Given the description of an element on the screen output the (x, y) to click on. 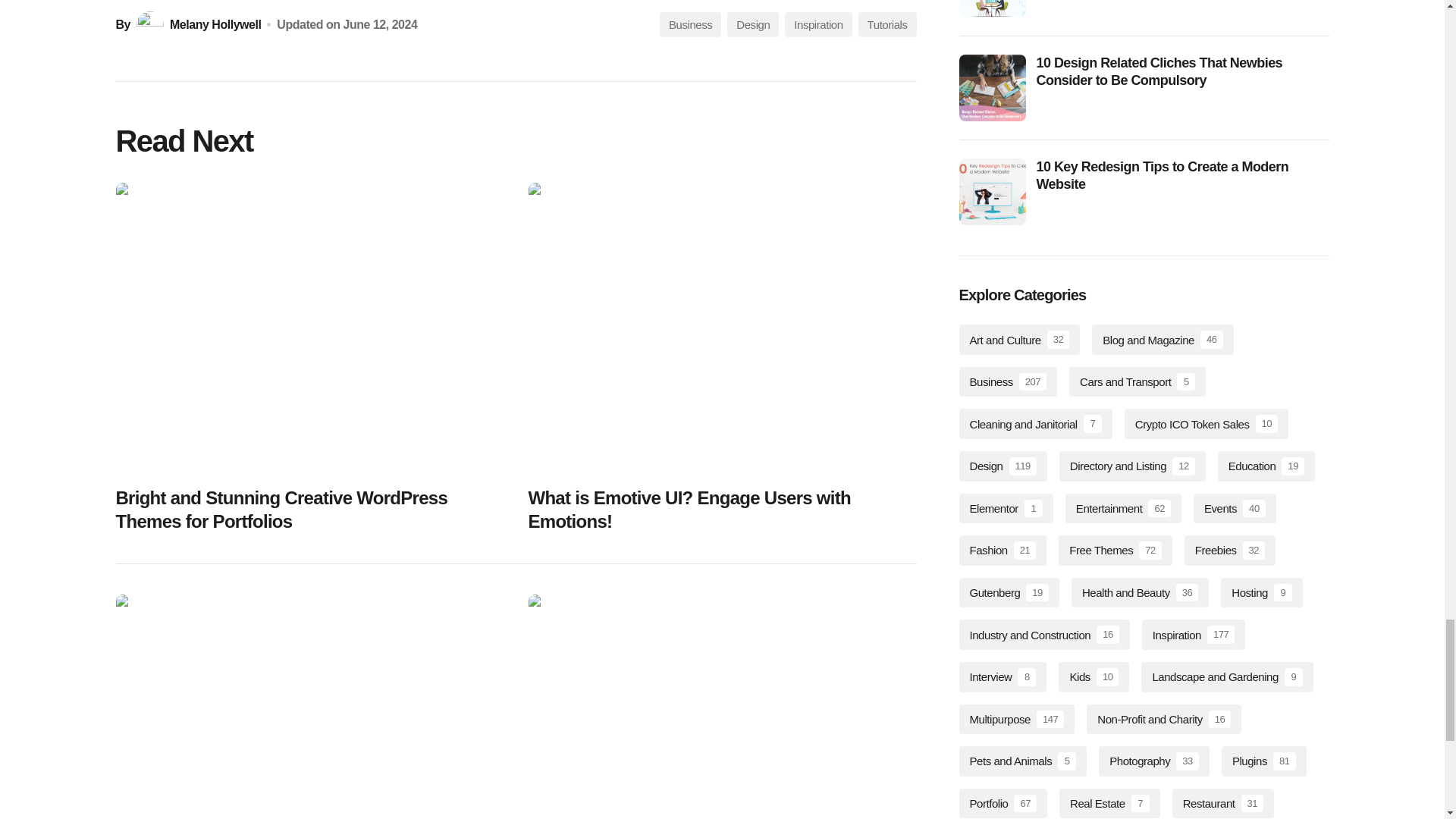
Bright and Stunning Creative WordPress Themes for Portfolios (309, 327)
What is Emotive UI? Engage Users with Emotions! (721, 327)
